Given the description of an element on the screen output the (x, y) to click on. 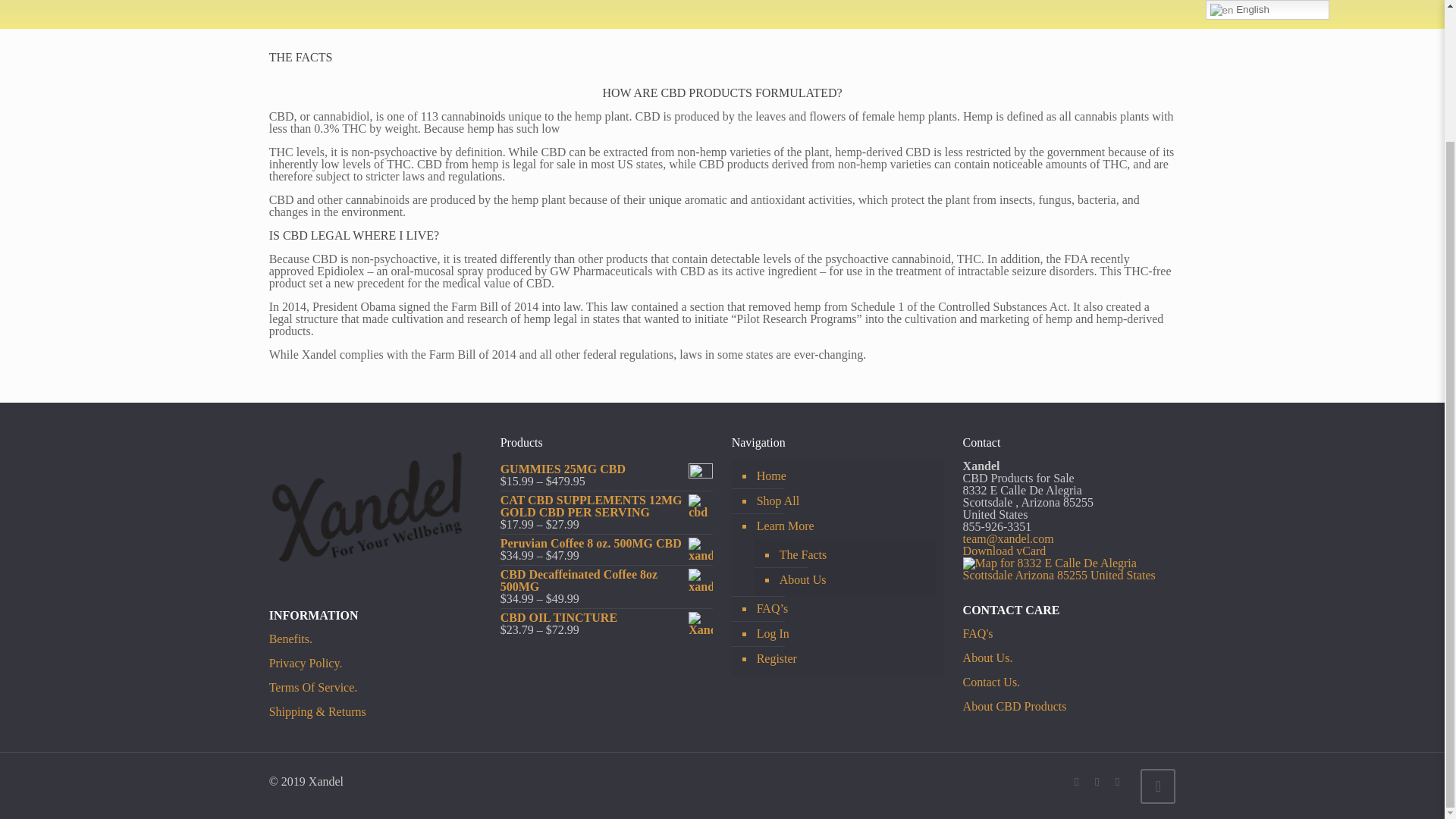
Peruvian Coffee 8 oz. 500MG CBD (606, 543)
Benefits. (291, 638)
CBD OIL TINCTURE (606, 617)
Log In (845, 634)
Shop All (845, 501)
Download vCard (1004, 550)
Instagram (1117, 781)
About Us. (987, 657)
YouTube (1097, 781)
The Facts (853, 555)
